Given the description of an element on the screen output the (x, y) to click on. 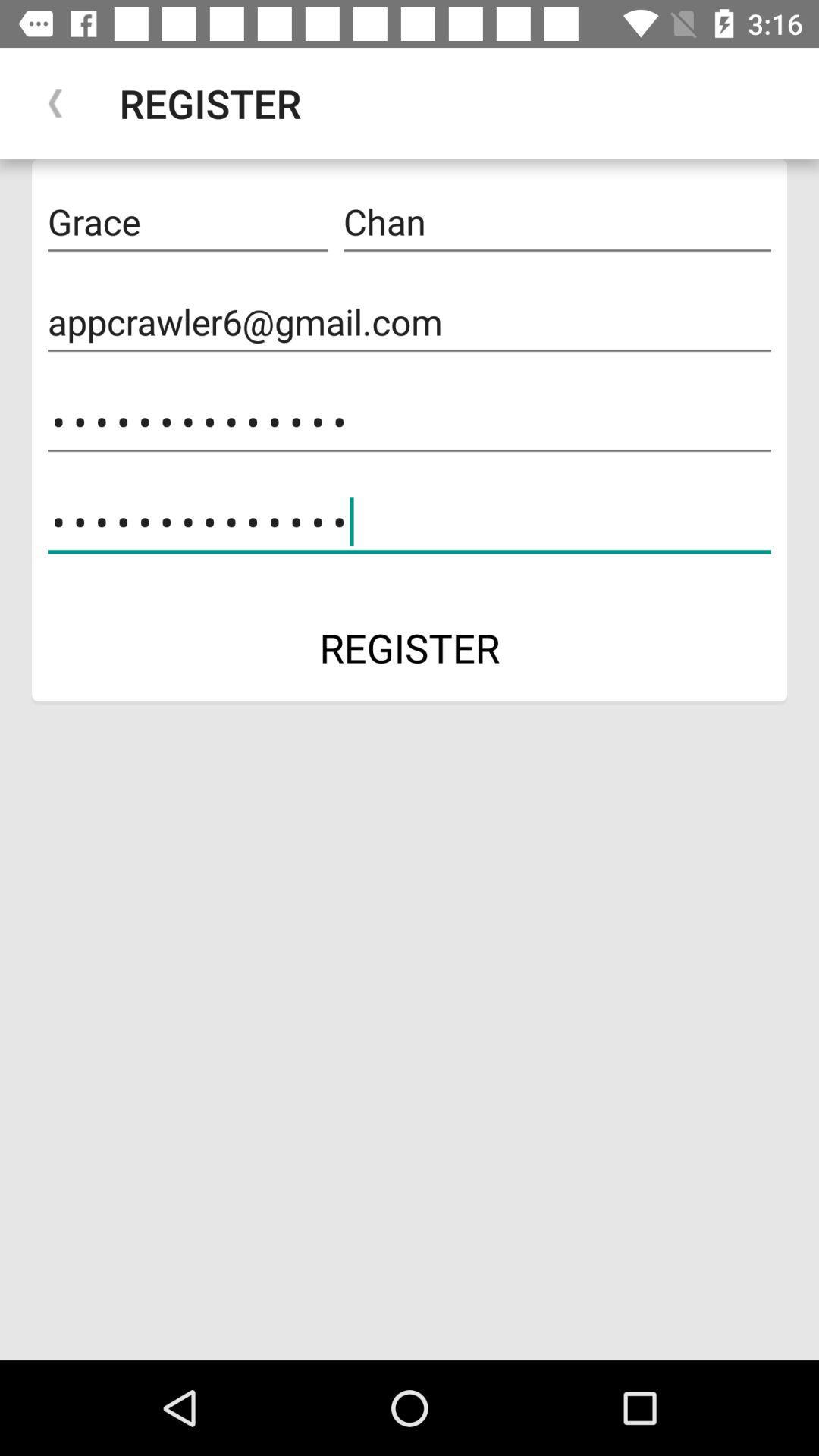
turn off the chan at the top right corner (557, 222)
